Given the description of an element on the screen output the (x, y) to click on. 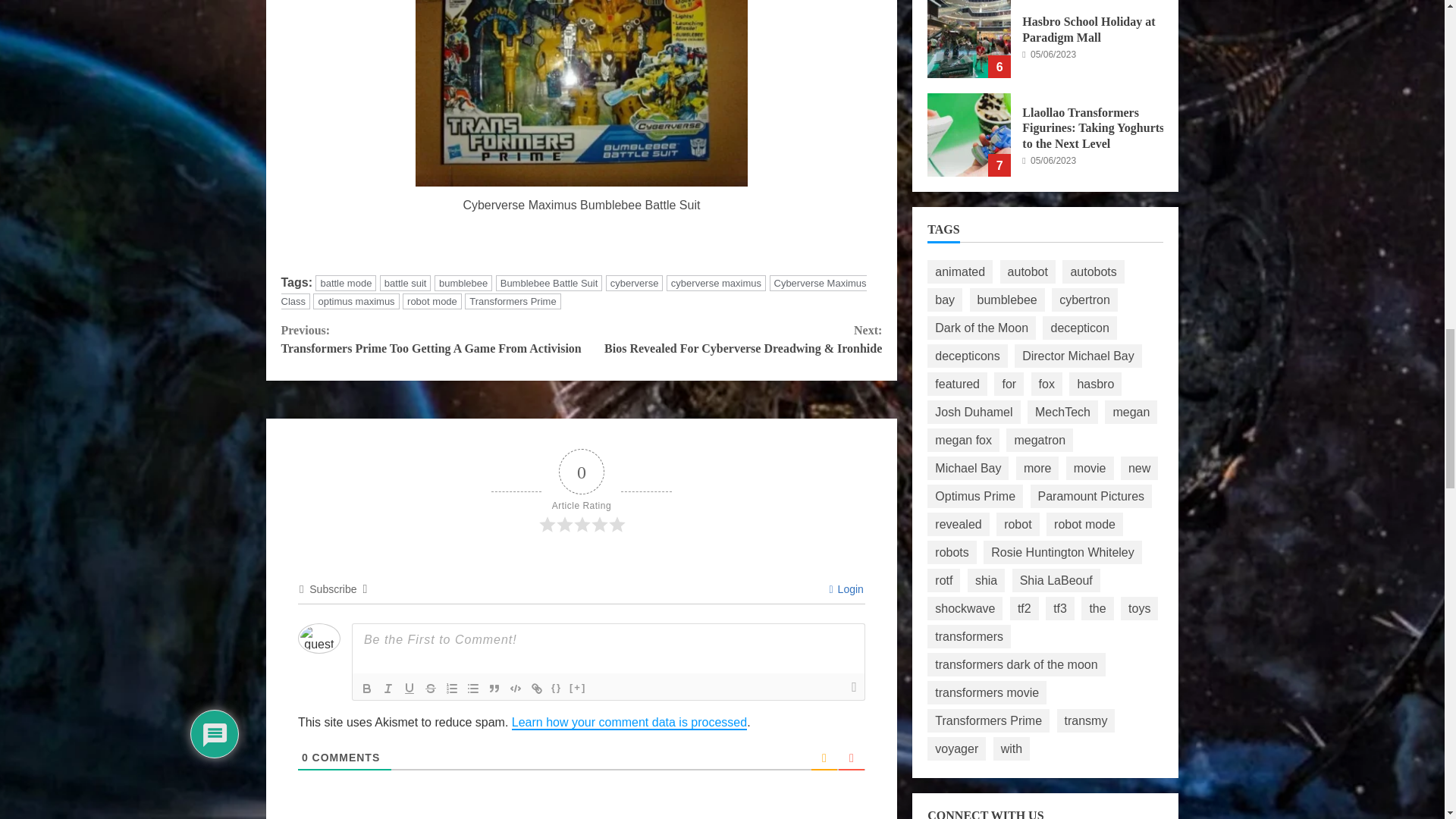
Cyberverse Maximus Bumblebee Battle Suit (580, 93)
Source Code (556, 688)
Underline (409, 688)
Blockquote (494, 688)
Code Block (515, 688)
Bold (366, 688)
Ordered List (452, 688)
Strike (430, 688)
Link (536, 688)
Italic (387, 688)
Unordered List (473, 688)
